Given the description of an element on the screen output the (x, y) to click on. 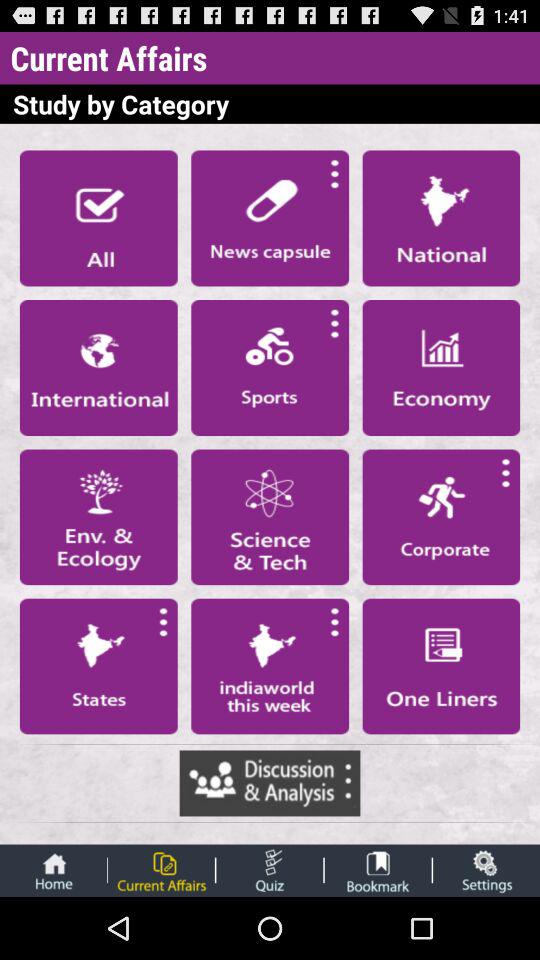
bookmark button (378, 870)
